Given the description of an element on the screen output the (x, y) to click on. 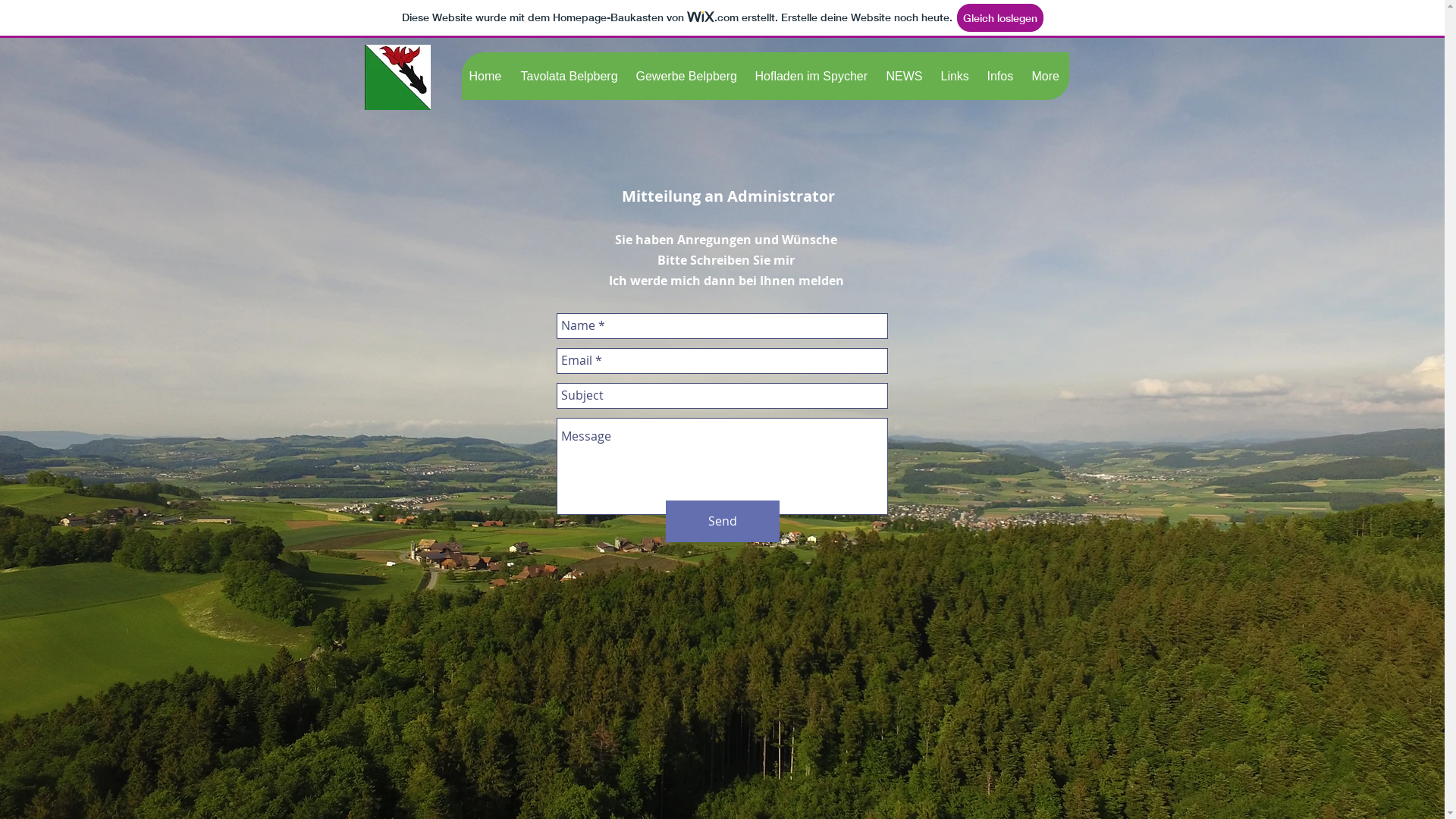
Home Element type: text (486, 76)
Gewerbe Belpberg Element type: text (686, 76)
Send Element type: text (722, 521)
Links Element type: text (955, 76)
Tavolata Belpberg Element type: text (569, 76)
NEWS Element type: text (905, 76)
Infos Element type: text (1000, 76)
Hofladen im Spycher Element type: text (811, 76)
